Given the description of an element on the screen output the (x, y) to click on. 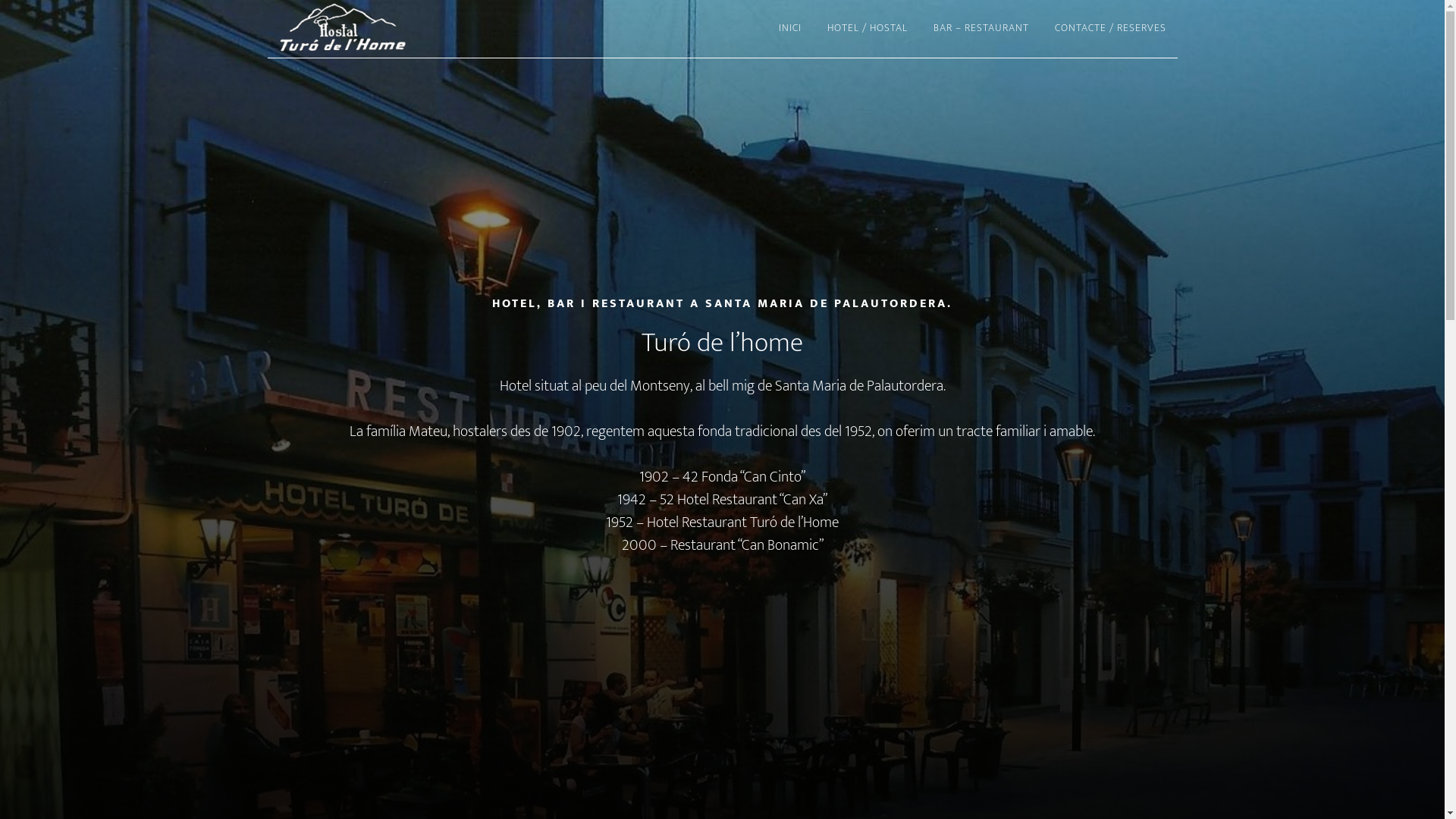
Skip to main content Element type: text (0, 0)
HOTEL / HOSTAL Element type: text (867, 28)
CONTACTE / RESERVES Element type: text (1110, 28)
INICI Element type: text (789, 28)
